Given the description of an element on the screen output the (x, y) to click on. 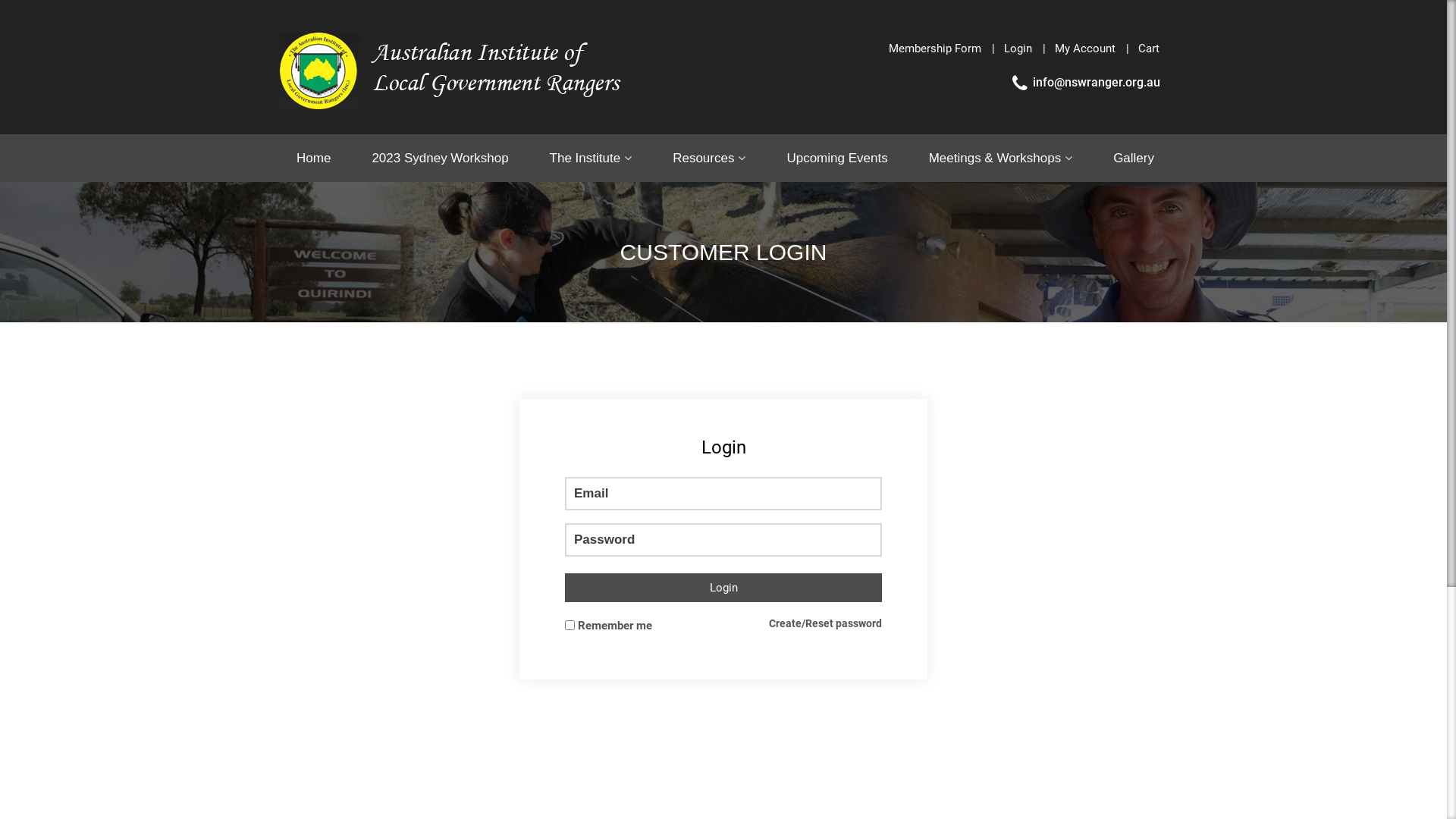
Membership Form Element type: text (934, 48)
Login Element type: text (722, 587)
The Institute Element type: text (590, 157)
Upcoming Events Element type: text (836, 158)
Home Element type: text (319, 158)
Resources Element type: text (708, 157)
Login Element type: text (1017, 48)
Meetings & Workshops Element type: text (1000, 157)
Create/Reset password Element type: text (824, 623)
Gallery Element type: text (1133, 158)
2023 Sydney Workshop Element type: text (439, 158)
Contact Us Element type: text (1128, 202)
My Account Element type: text (1084, 48)
Shop Element type: text (1047, 202)
info@nswranger.org.au Element type: text (1085, 82)
Cart Element type: text (1142, 48)
